Given the description of an element on the screen output the (x, y) to click on. 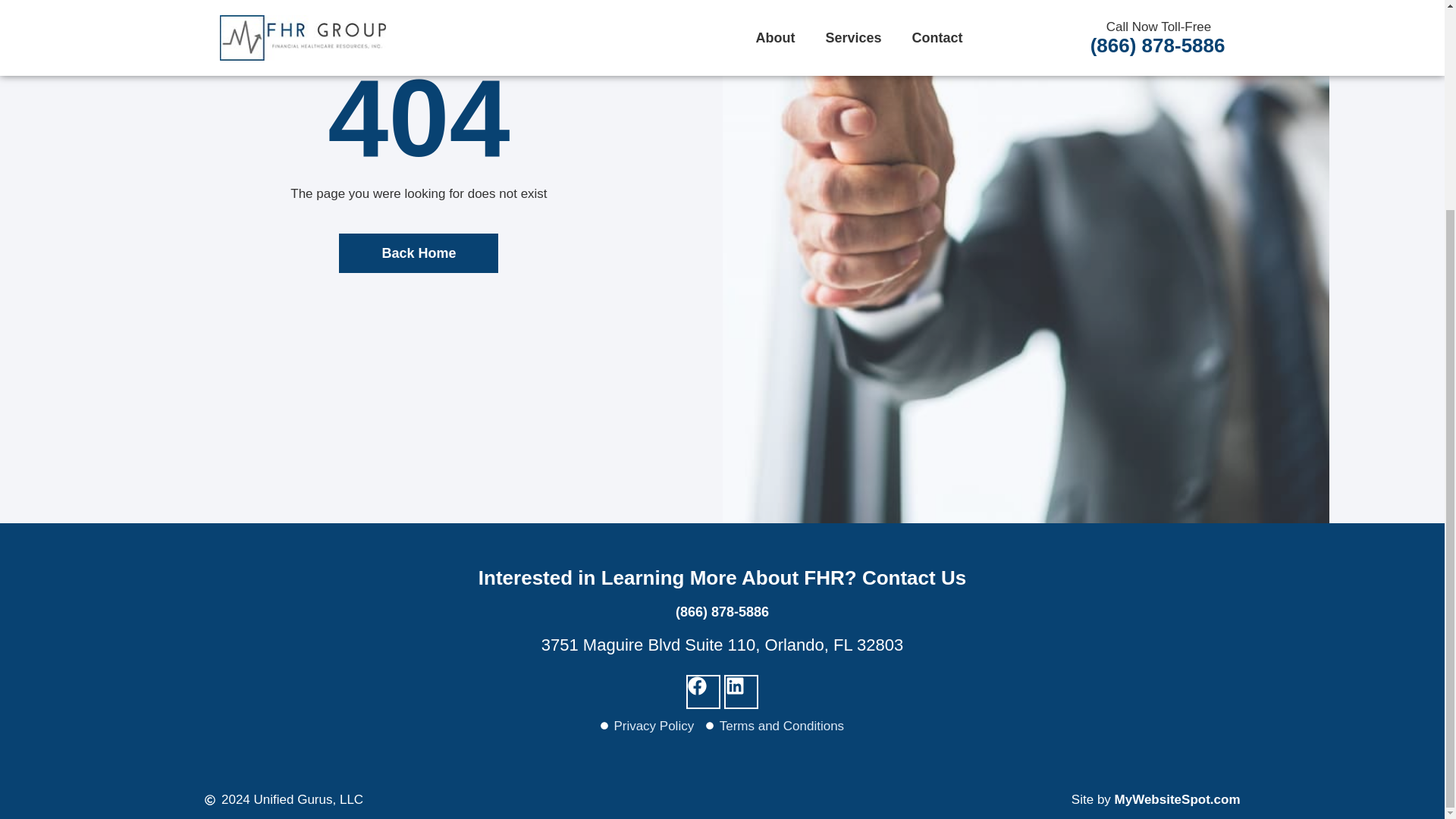
Terms and Conditions (775, 726)
Back Home (418, 252)
MyWebsiteSpot.com (1177, 799)
Privacy Policy (646, 726)
